Given the description of an element on the screen output the (x, y) to click on. 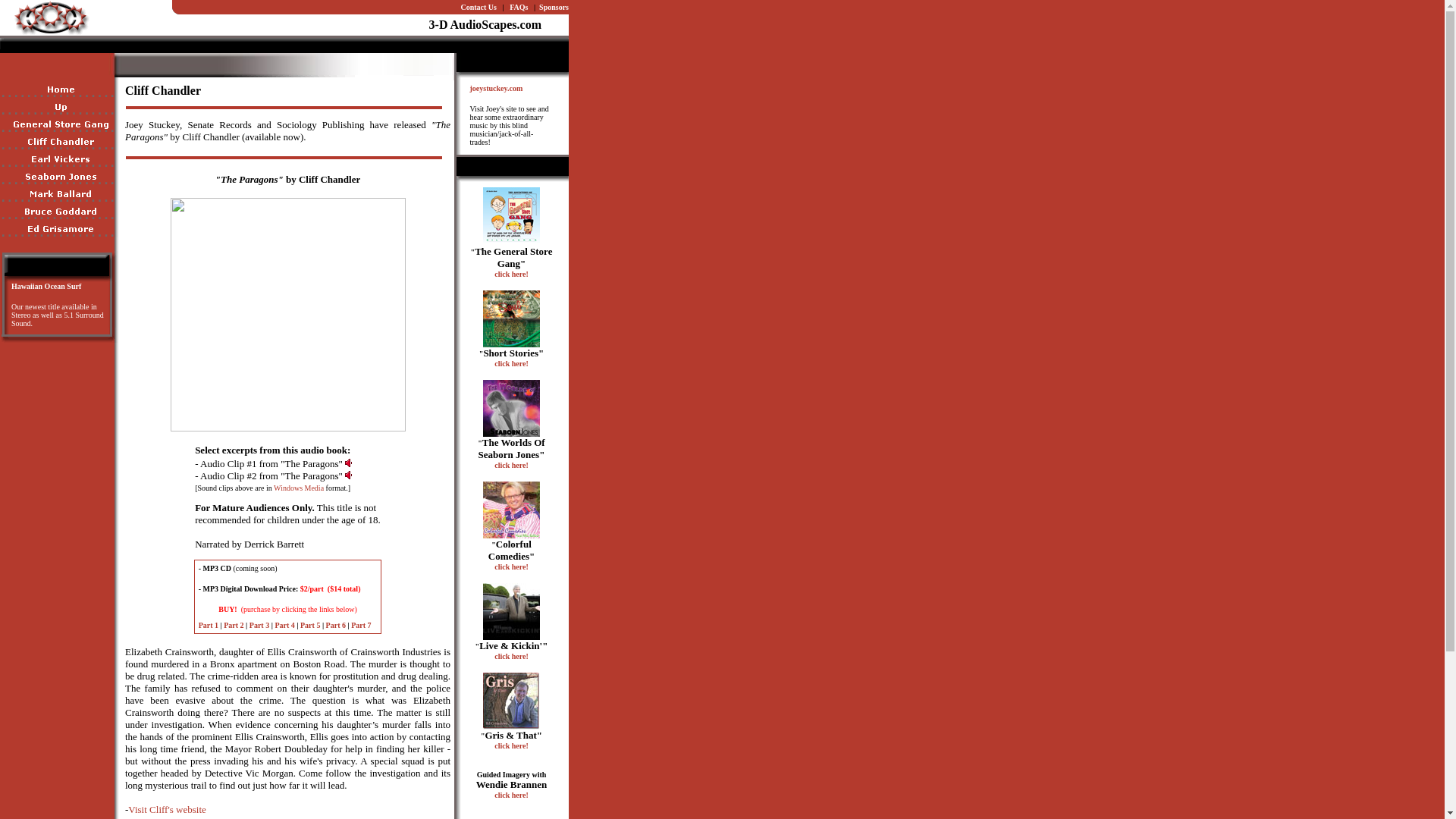
click here! Element type: text (511, 363)
FAQs Element type: text (518, 7)
Part 3 Element type: text (259, 625)
click here! Element type: text (511, 656)
click here! Element type: text (511, 745)
joeystuckey.com Element type: text (496, 88)
Windows Media Element type: text (298, 487)
Part 4 Element type: text (284, 625)
click here! Element type: text (511, 794)
Visit Cliff's website Element type: text (166, 809)
click here! Element type: text (511, 566)
Part 5 Element type: text (310, 625)
click here! Element type: text (511, 465)
Part 7 Element type: text (360, 625)
Part 6 Element type: text (335, 625)
Hawaiian Ocean Surf Element type: text (46, 286)
Part 2 Element type: text (233, 625)
Part 1 Element type: text (208, 625)
click here! Element type: text (511, 273)
Sponsors Element type: text (553, 7)
